Given the description of an element on the screen output the (x, y) to click on. 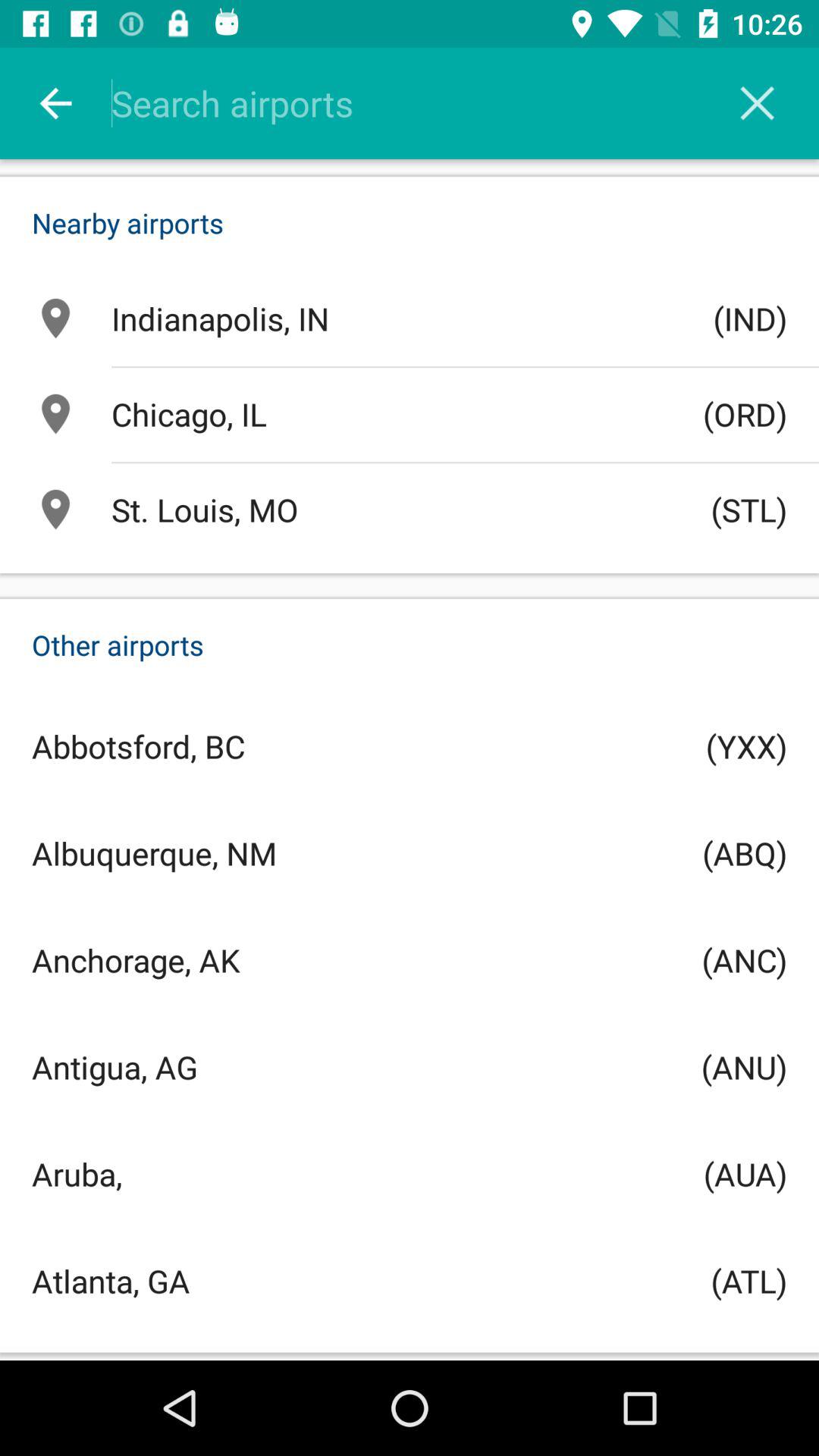
search airports (429, 103)
